Given the description of an element on the screen output the (x, y) to click on. 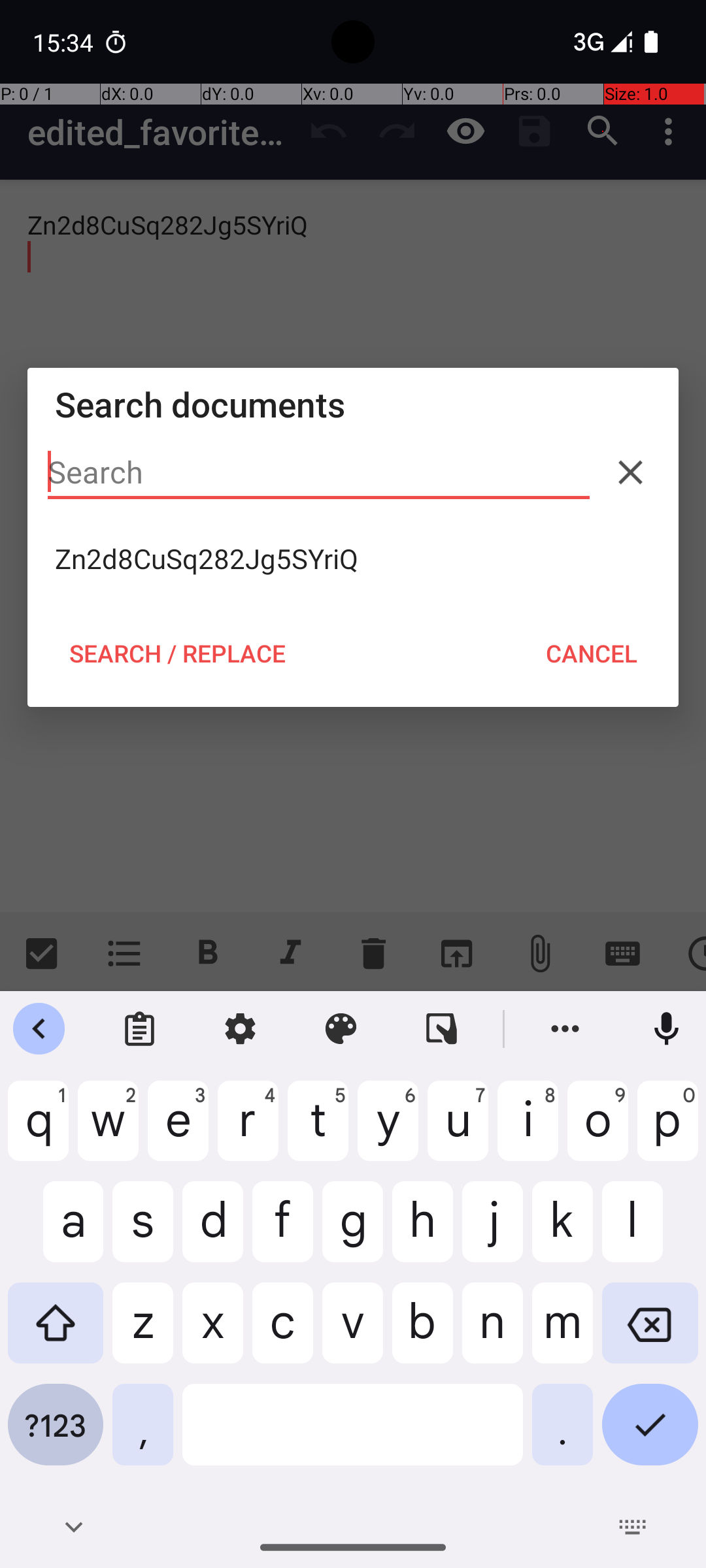
Zn2d8CuSq282Jg5SYriQ Element type: android.widget.TextView (352, 558)
